Given the description of an element on the screen output the (x, y) to click on. 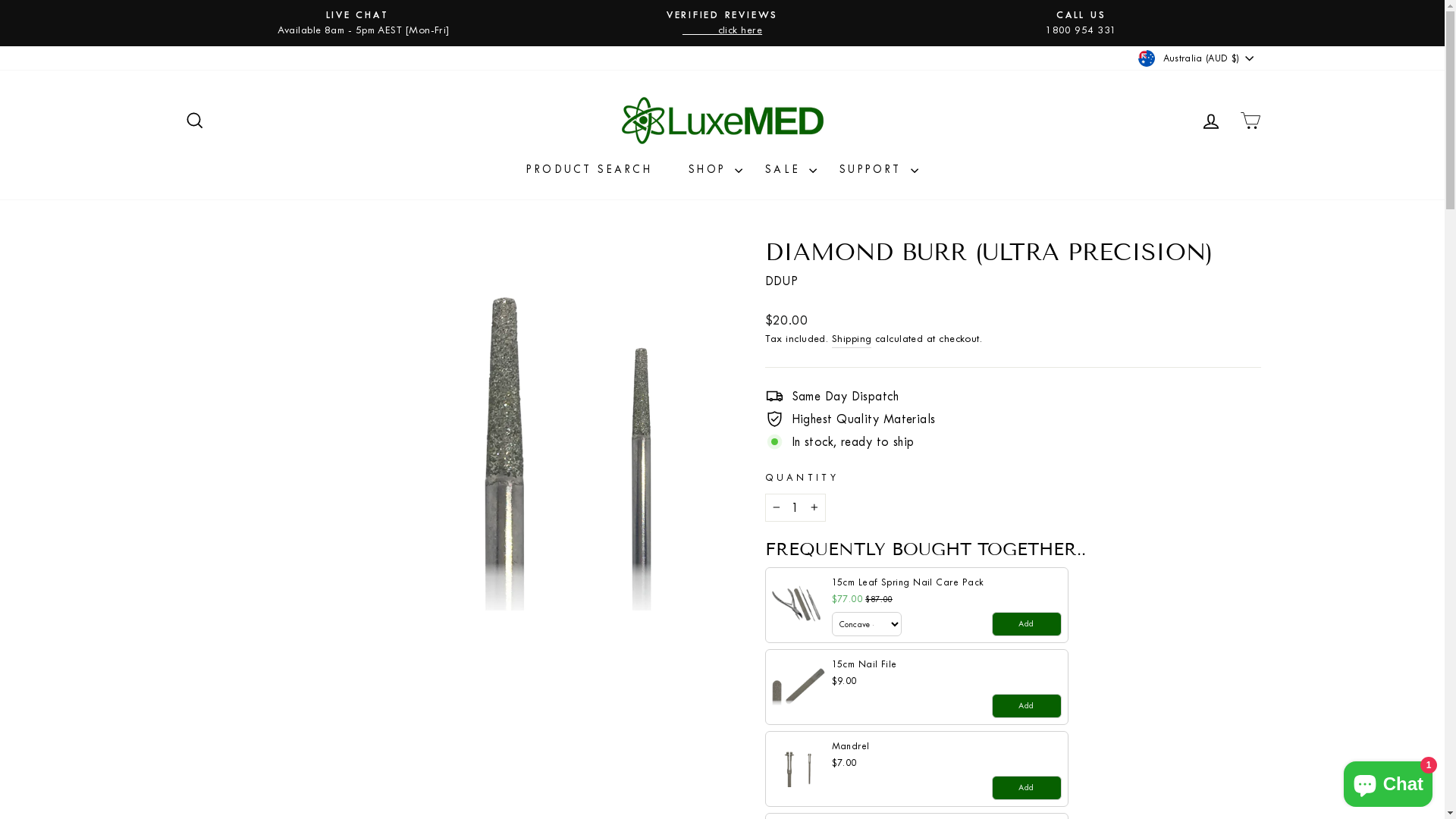
Shopify online store chat Element type: hover (1388, 780)
+ Element type: text (813, 507)
Australia (AUD $) Element type: text (1197, 58)
ACCOUNT
LOG IN Element type: text (1210, 120)
CART Element type: text (1249, 120)
ICON-SEARCH
SEARCH Element type: text (193, 120)
Shipping Element type: text (851, 338)
